Given the description of an element on the screen output the (x, y) to click on. 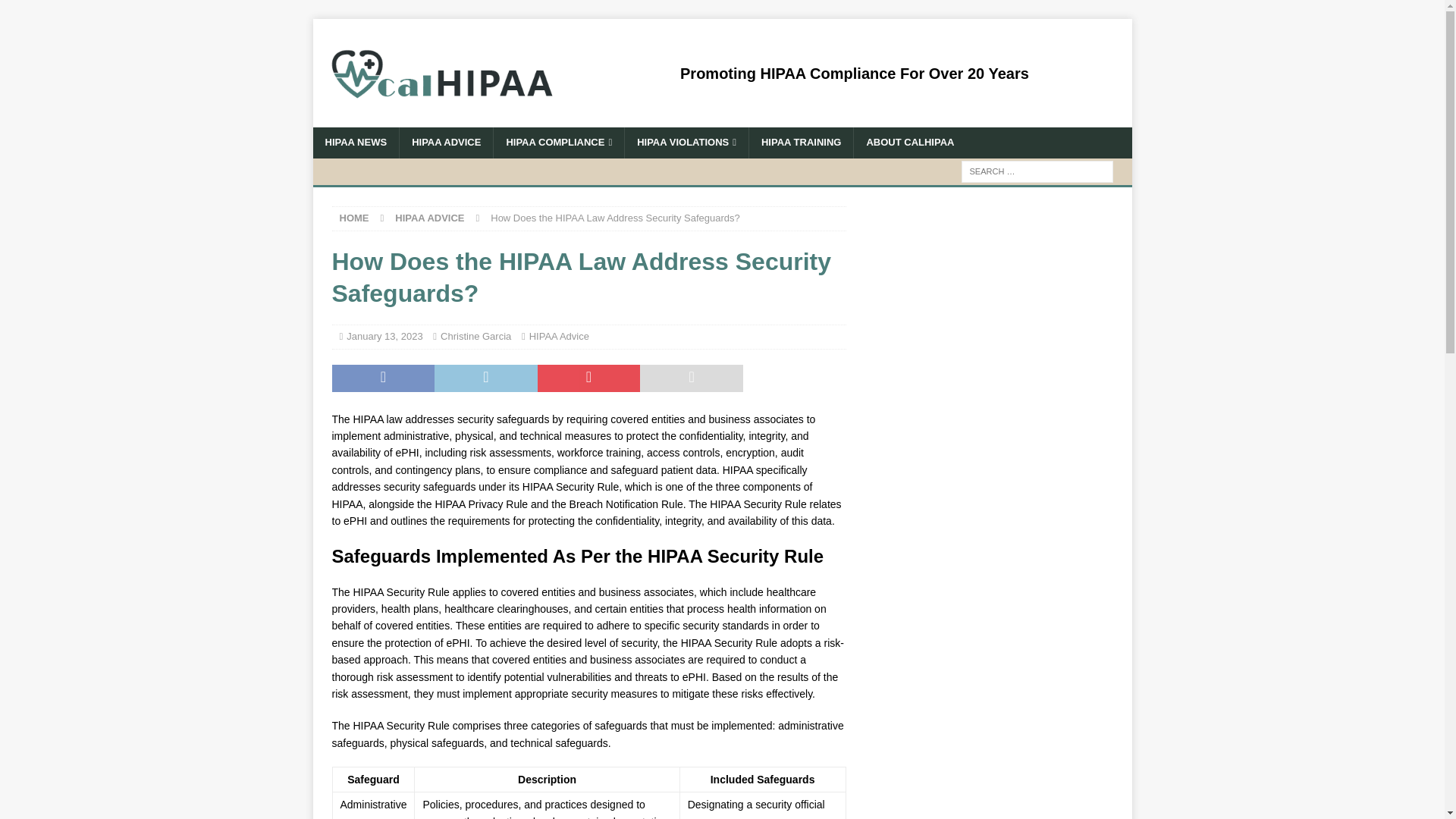
Christine Garcia (476, 336)
HIPAA TRAINING (800, 142)
HIPAA VIOLATIONS (686, 142)
HIPAA ADVICE (445, 142)
January 13, 2023 (384, 336)
HIPAA Advice (559, 336)
HIPAA ADVICE (429, 217)
Search (56, 11)
HOME (354, 217)
HIPAA NEWS (355, 142)
ABOUT CALHIPAA (909, 142)
HIPAA COMPLIANCE (558, 142)
